Given the description of an element on the screen output the (x, y) to click on. 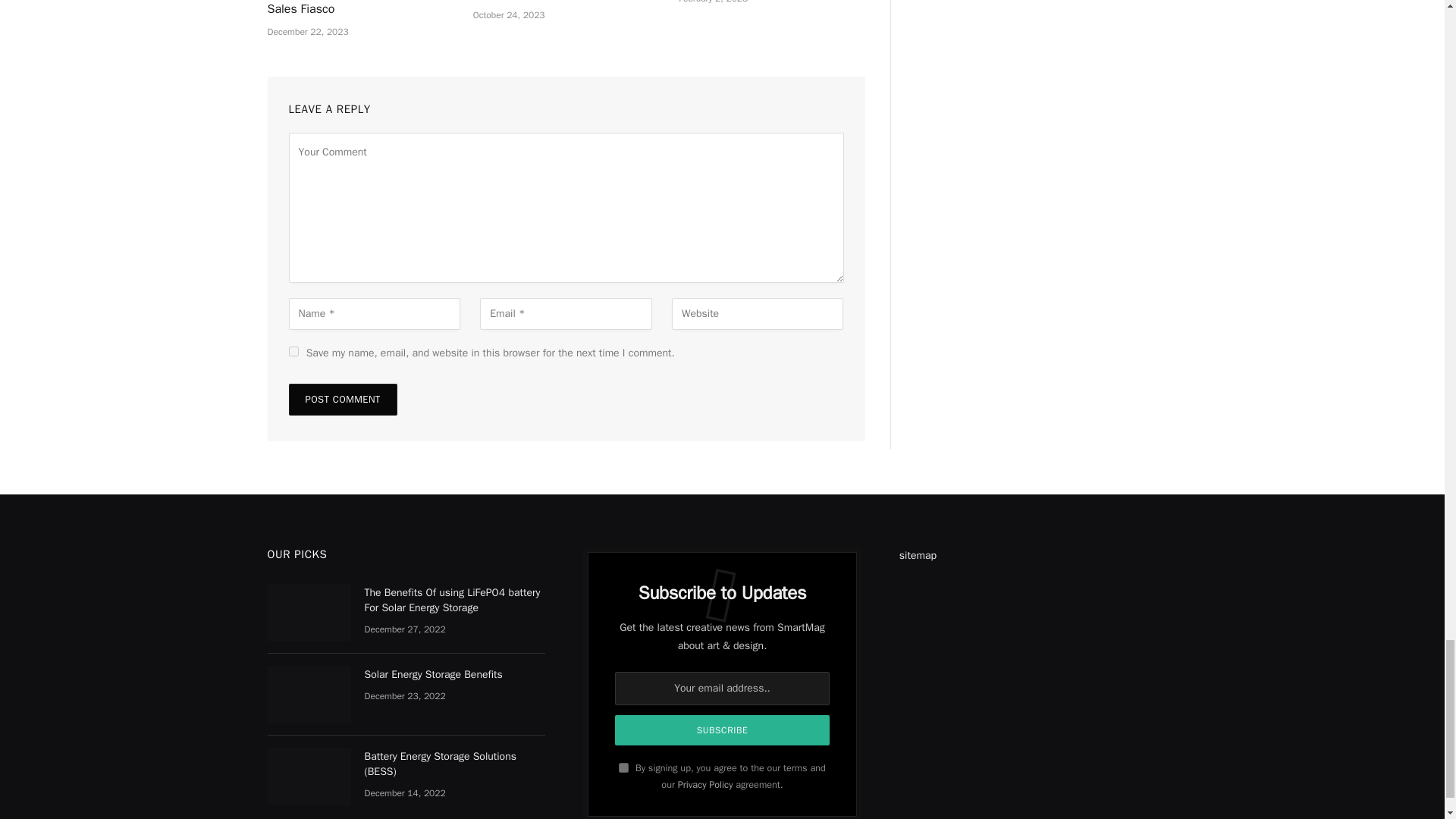
Subscribe (721, 729)
on (623, 767)
Post Comment (342, 399)
yes (293, 351)
